Given the description of an element on the screen output the (x, y) to click on. 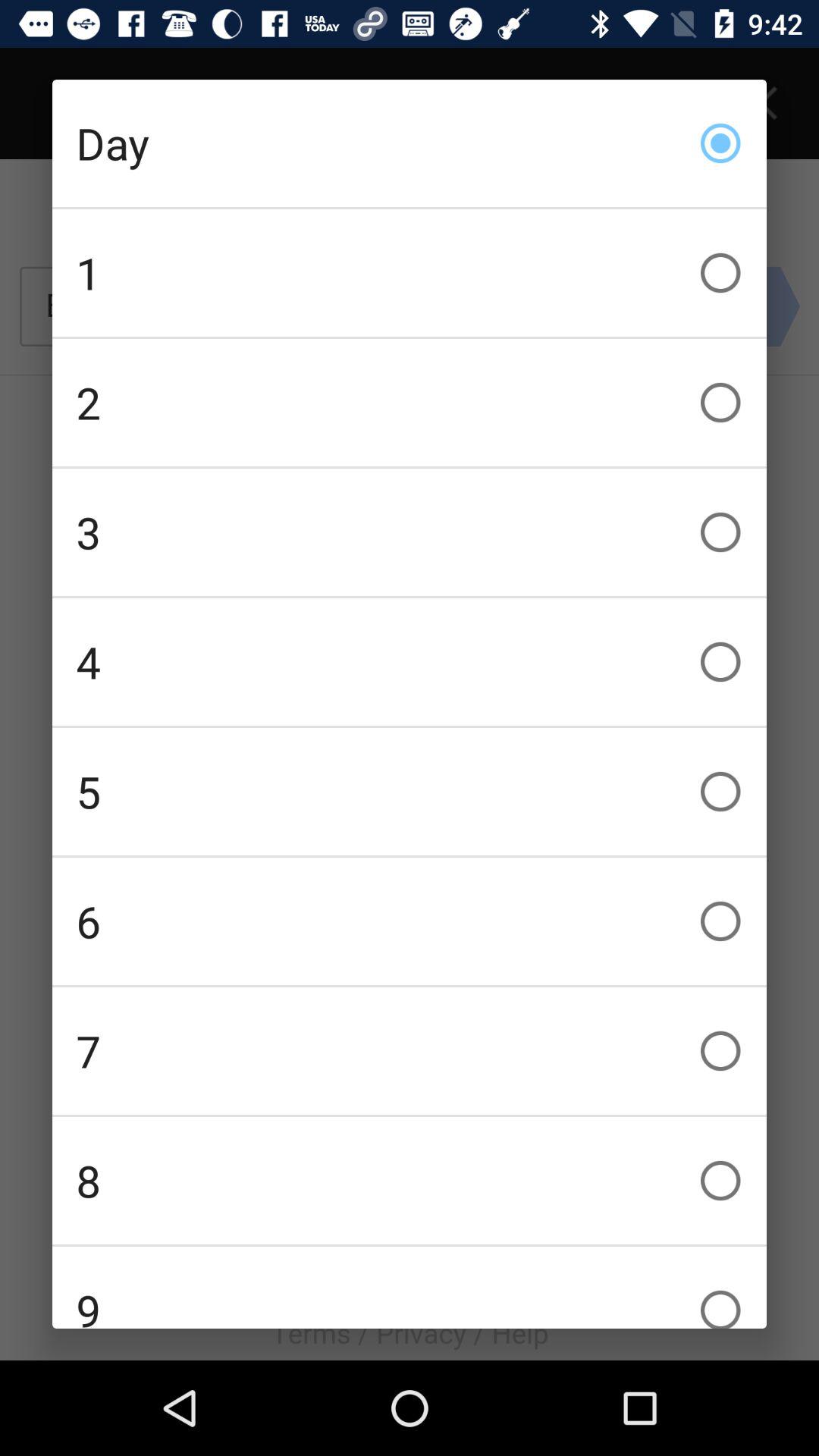
flip until the 4 checkbox (409, 661)
